Given the description of an element on the screen output the (x, y) to click on. 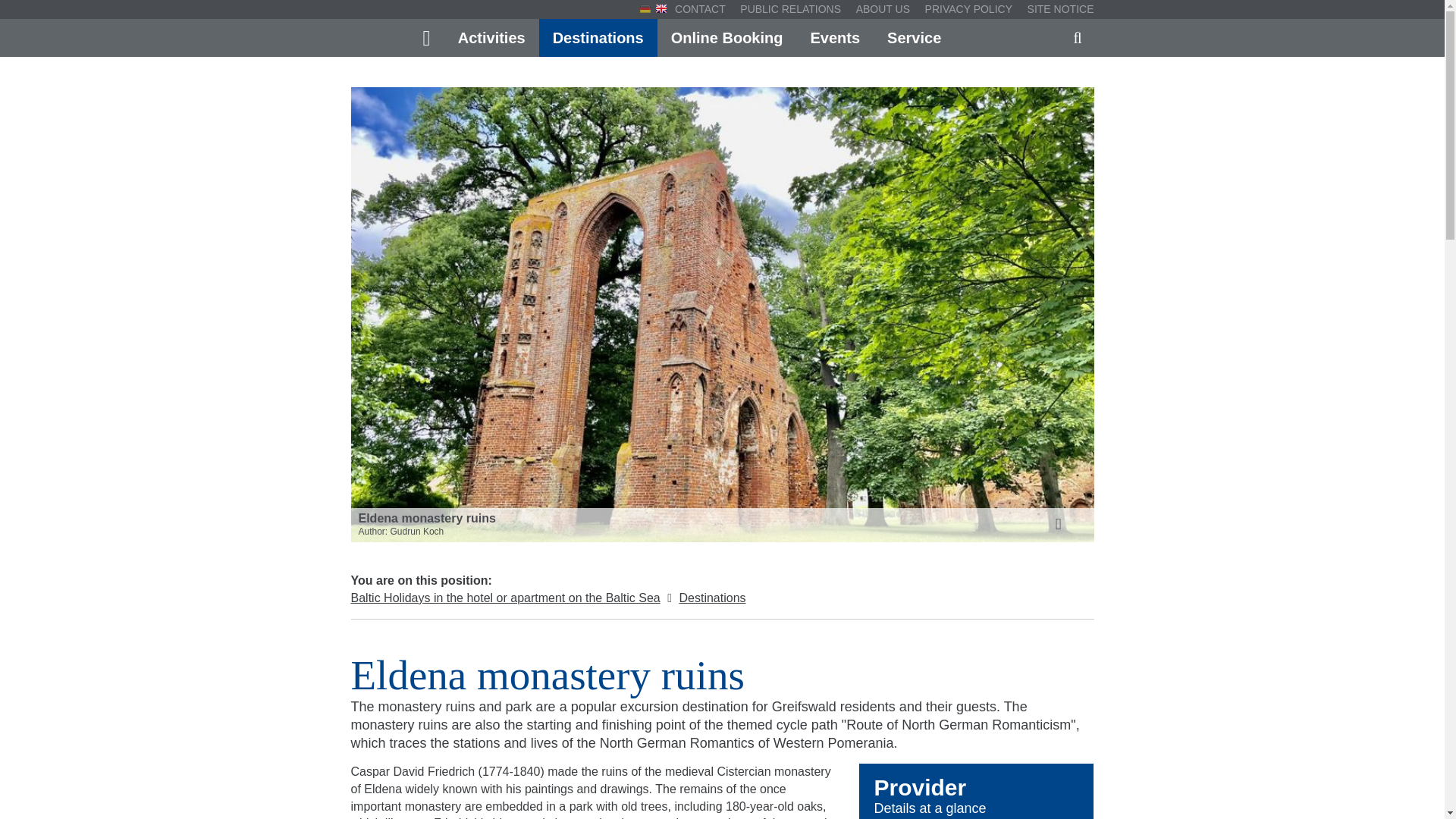
Activities (491, 37)
Events (834, 37)
Activities (491, 37)
Online Booking (727, 37)
Events (834, 37)
Deutsch (644, 9)
PUBLIC RELATIONS (789, 9)
Service (914, 37)
SITE NOTICE (1057, 9)
Destinations (598, 37)
Contact (703, 9)
English (660, 9)
Destinations (598, 37)
ABOUT US (882, 9)
CONTACT (703, 9)
